Given the description of an element on the screen output the (x, y) to click on. 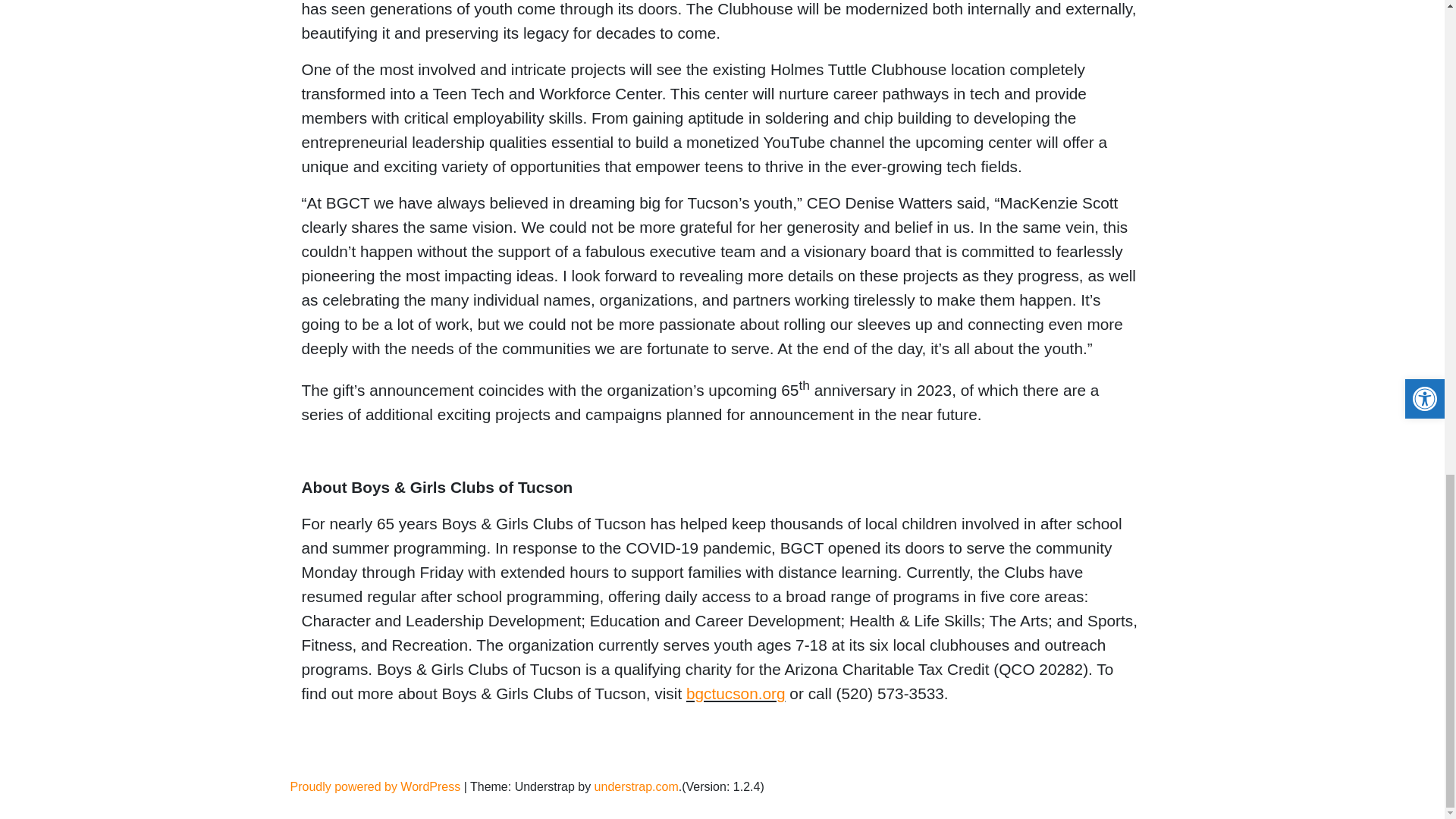
Proudly powered by WordPress (374, 786)
understrap.com (636, 786)
bgctucson.org (735, 692)
